Given the description of an element on the screen output the (x, y) to click on. 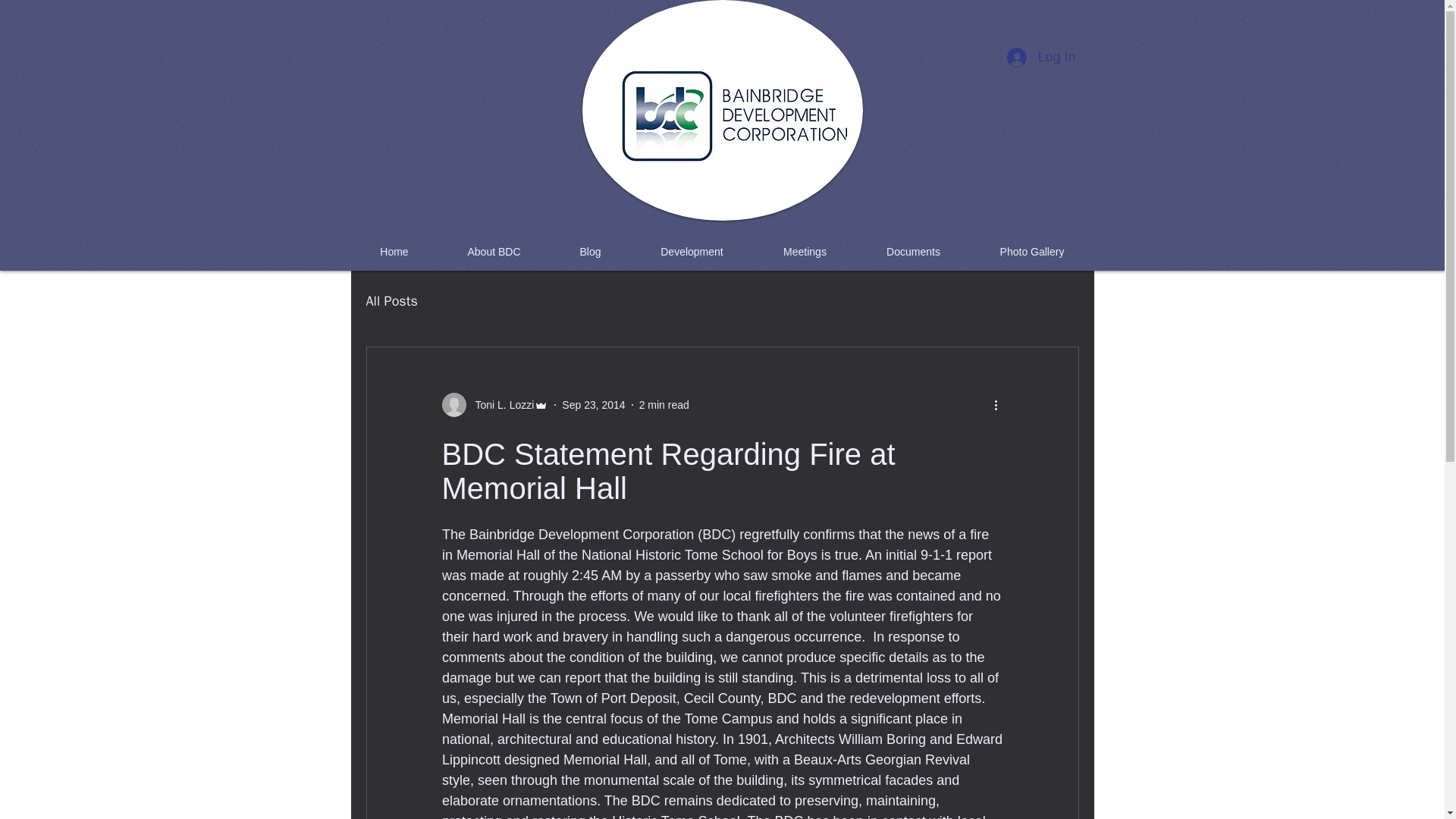
Documents (914, 251)
About BDC (494, 251)
Meetings (805, 251)
Home (394, 251)
Log In (1040, 57)
2 min read (663, 404)
All Posts (390, 300)
Photo Gallery (1032, 251)
Toni L. Lozzi (494, 404)
Sep 23, 2014 (593, 404)
